Given the description of an element on the screen output the (x, y) to click on. 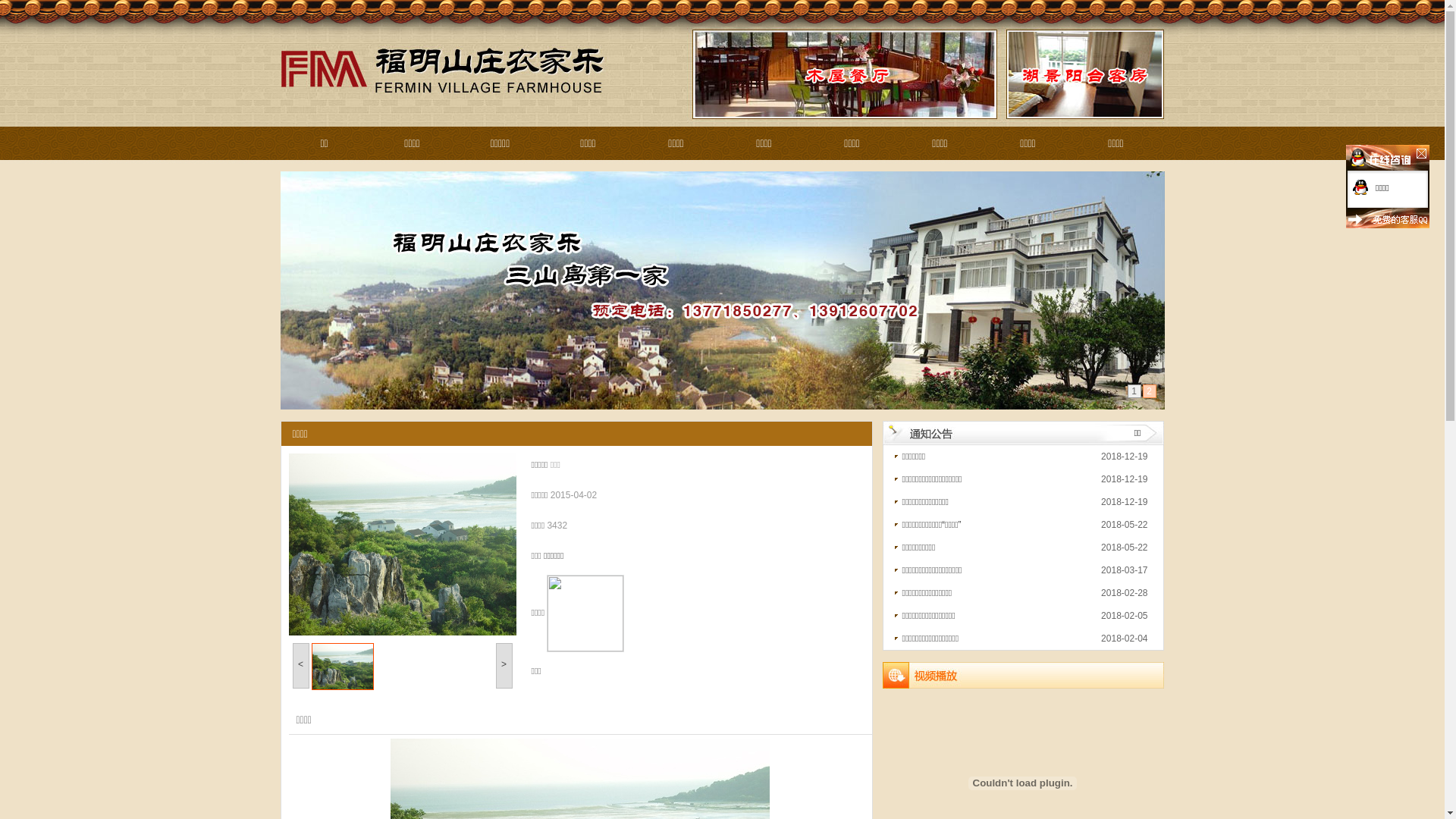
< Element type: text (300, 665)
> Element type: text (503, 665)
2 Element type: text (1148, 391)
1 Element type: text (1133, 391)
